Given the description of an element on the screen output the (x, y) to click on. 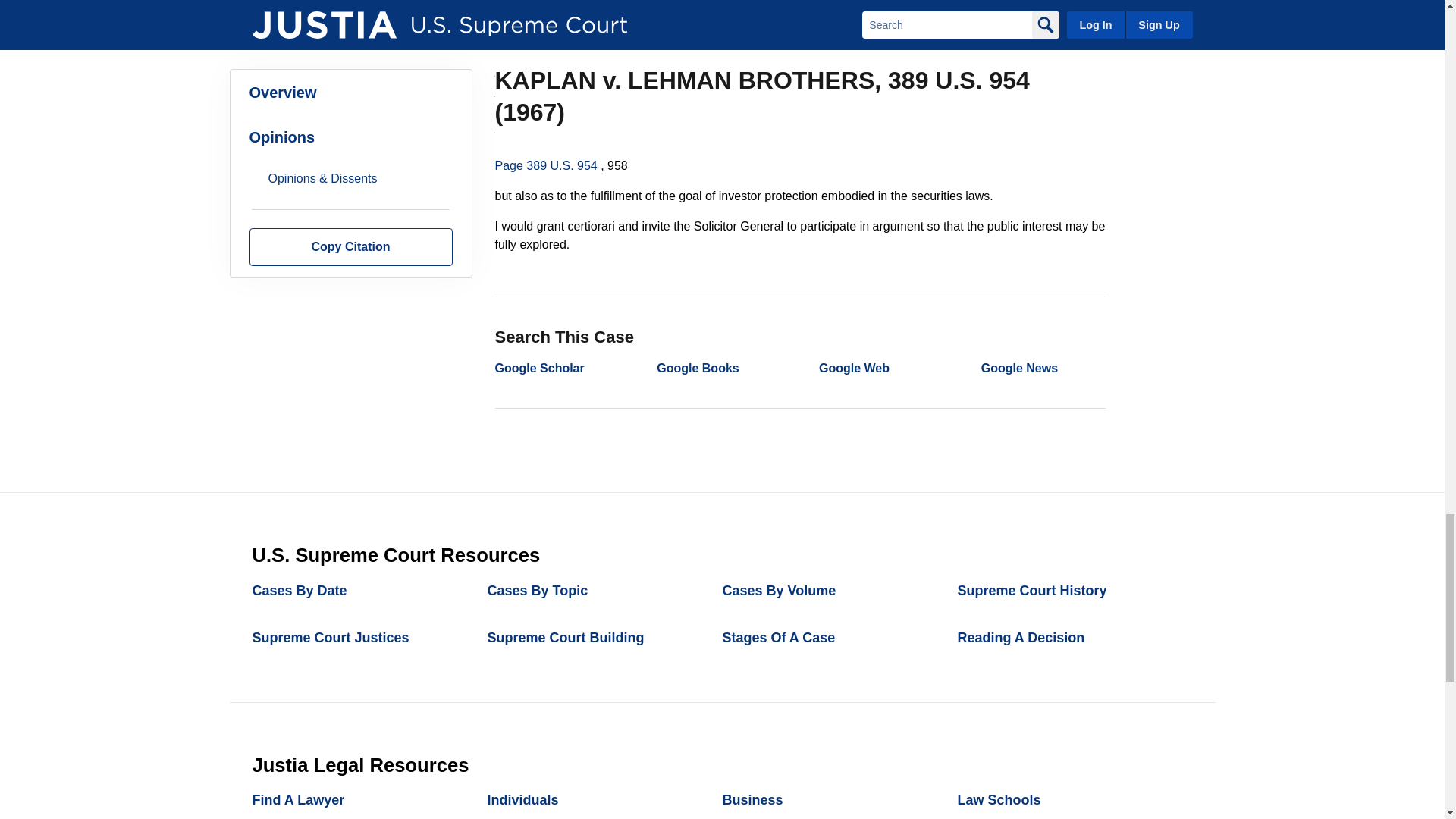
Law - Google News (1019, 367)
Law - Google Books (697, 367)
Law - Google Scholar (539, 367)
Law - Google Web (853, 367)
